Given the description of an element on the screen output the (x, y) to click on. 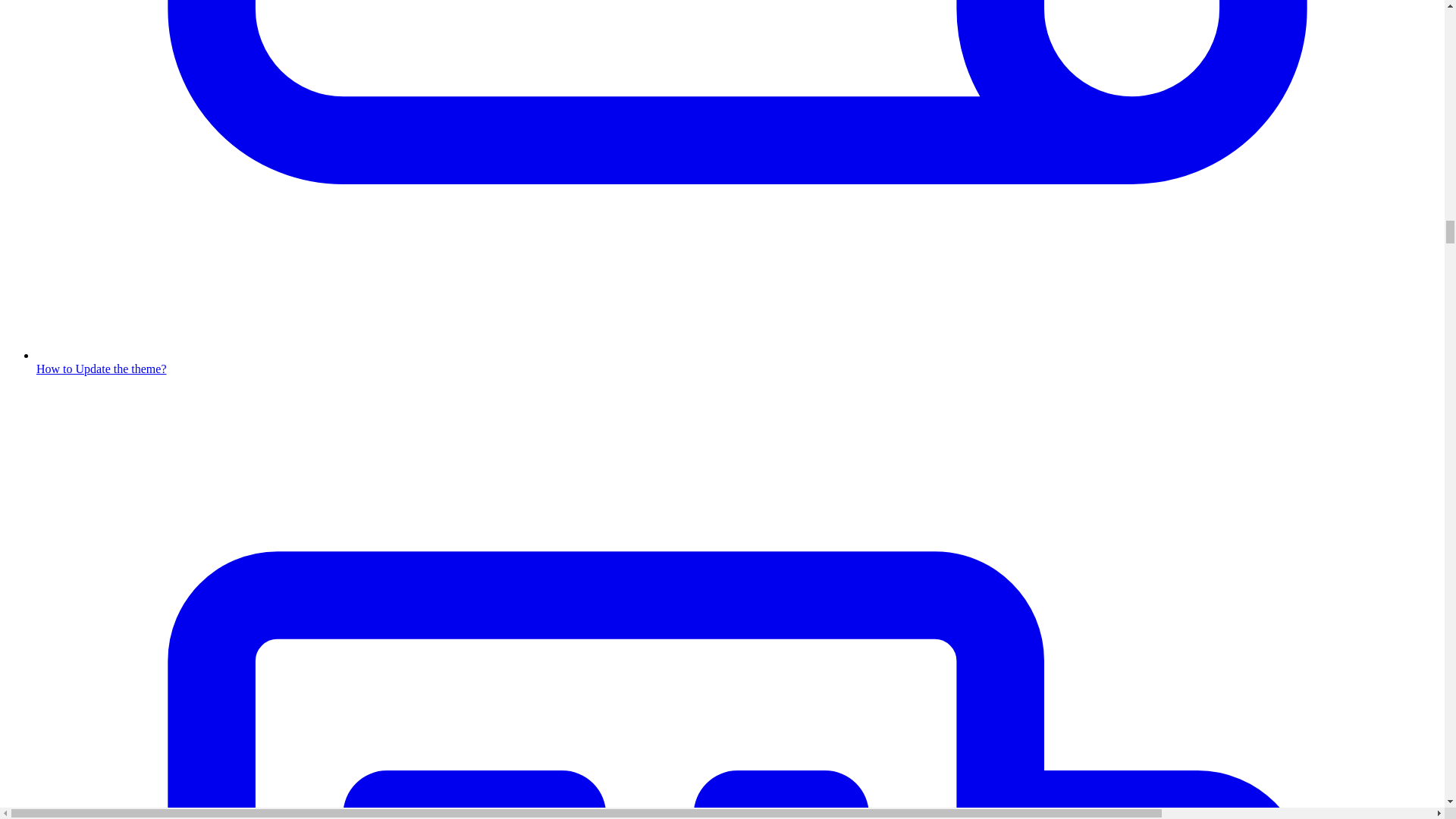
How to Update the theme? (737, 361)
